Given the description of an element on the screen output the (x, y) to click on. 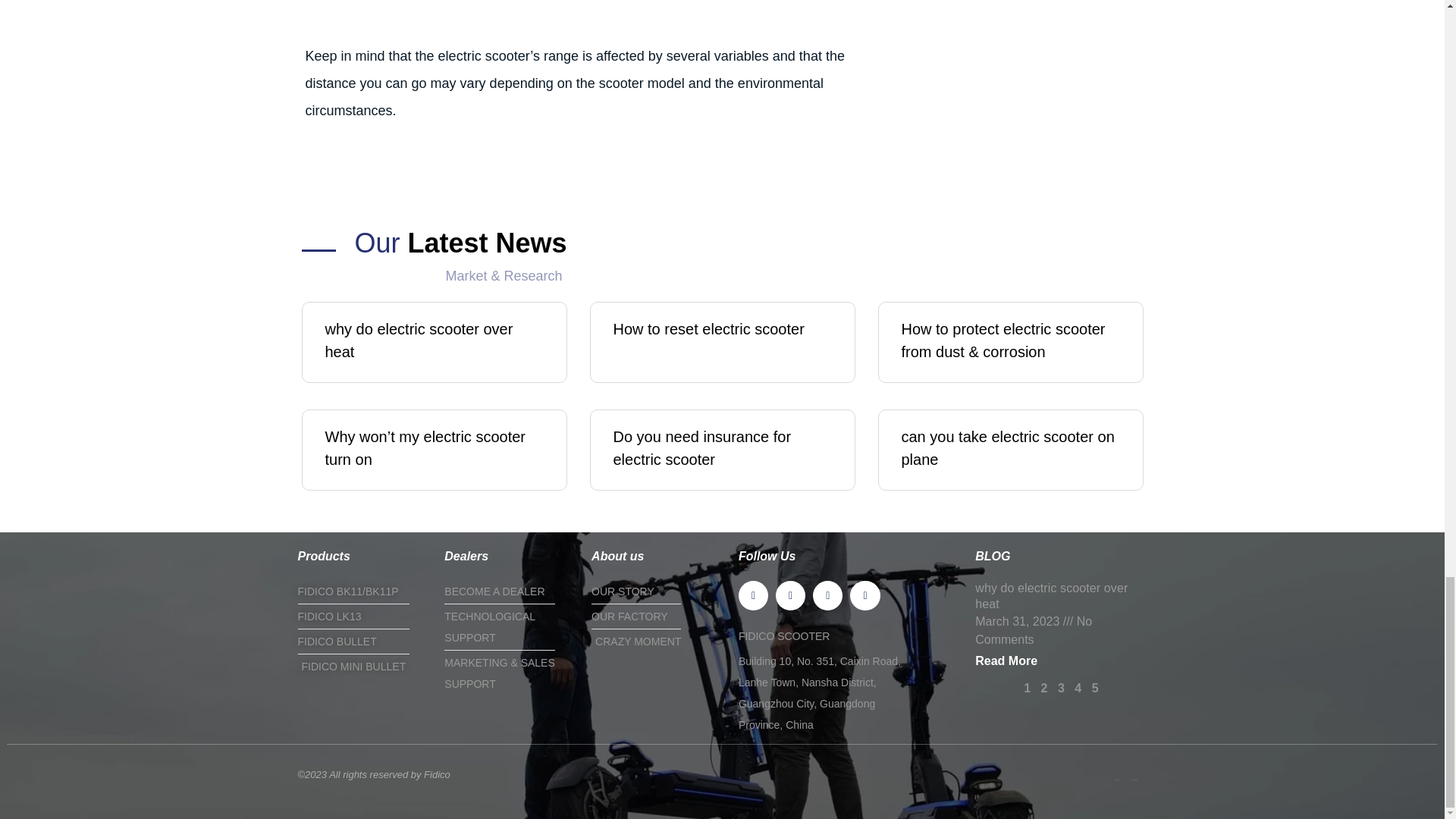
Read More (1005, 660)
TECHNOLOGICAL SUPPORT (510, 627)
FIDICO BULLET (363, 640)
why do electric scooter over heat (418, 340)
why do electric scooter over heat (1050, 595)
FIDICO MINI BULLET (363, 666)
CRAZY MOMENT (657, 640)
OUR FACTORY (657, 616)
Do you need insurance for electric scooter (701, 447)
BECOME A DEALER (510, 590)
OUR STORY (657, 590)
How to reset electric scooter (707, 329)
can you take electric scooter on plane (1007, 447)
FIDICO LK13 (363, 616)
